Given the description of an element on the screen output the (x, y) to click on. 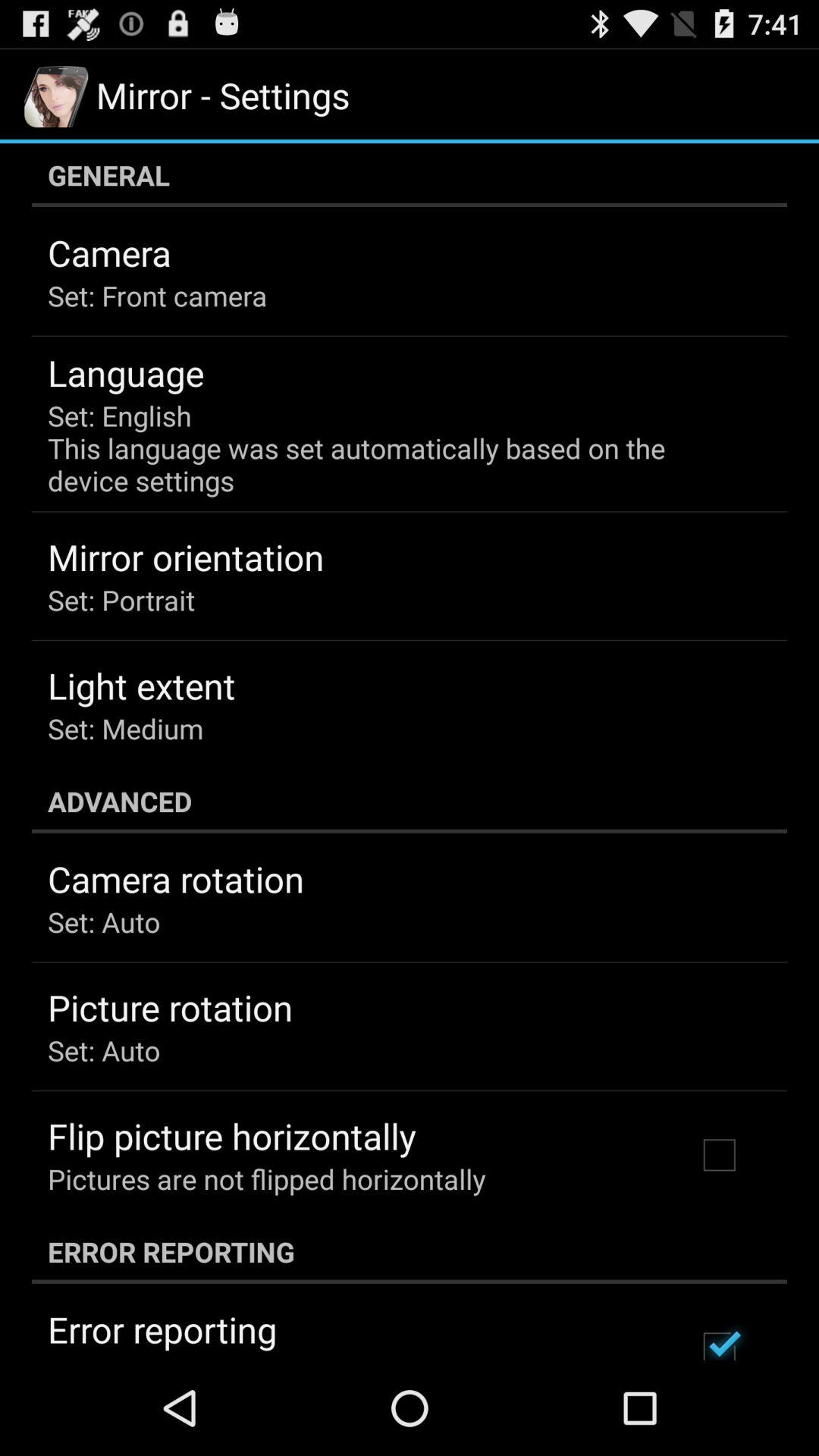
turn off icon above the set: auto icon (175, 878)
